Given the description of an element on the screen output the (x, y) to click on. 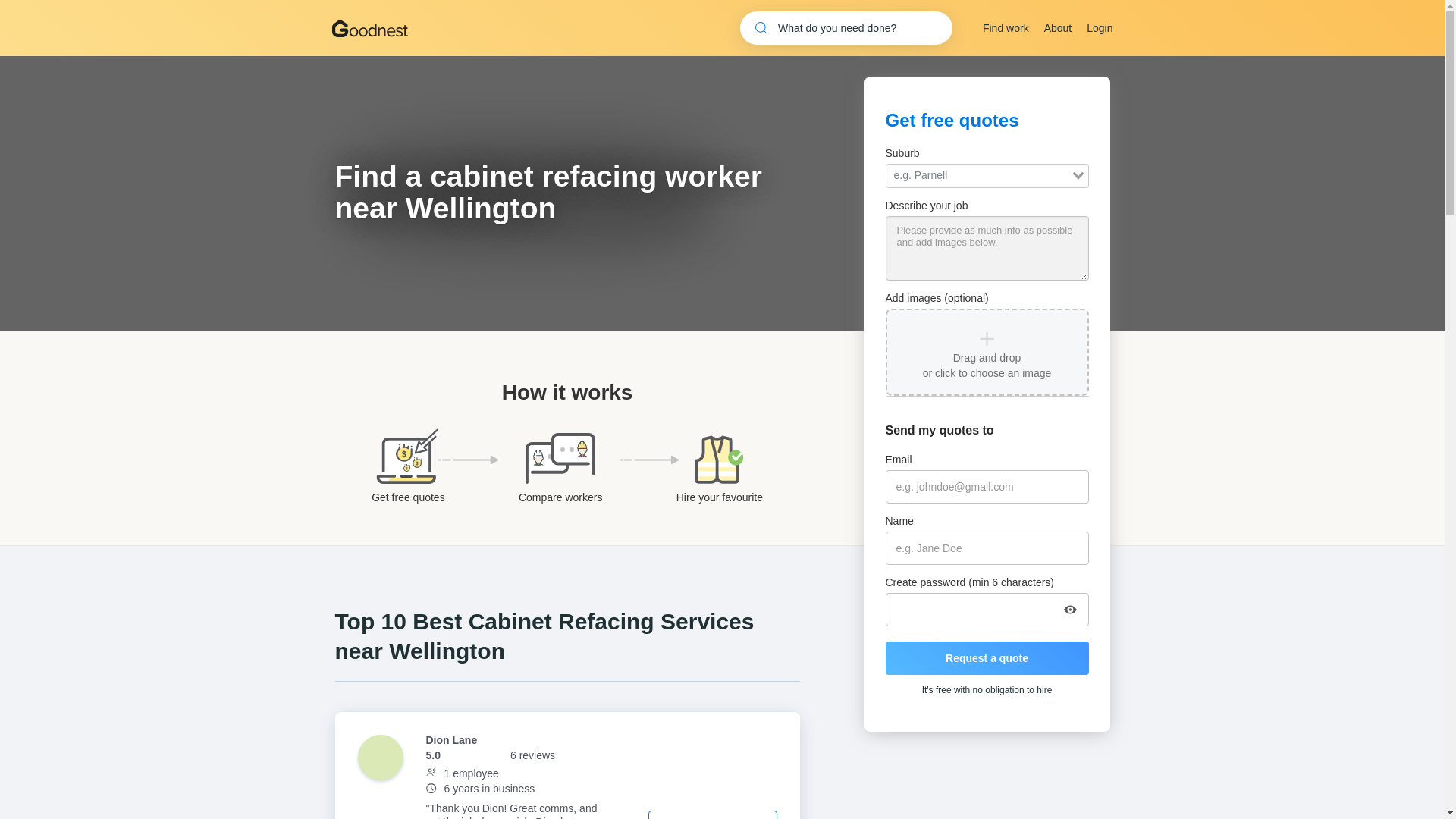
About (1057, 28)
Login (1099, 28)
Find work (1005, 28)
Goodnest Logo (369, 27)
Request a quote (987, 657)
View profile (712, 814)
